Given the description of an element on the screen output the (x, y) to click on. 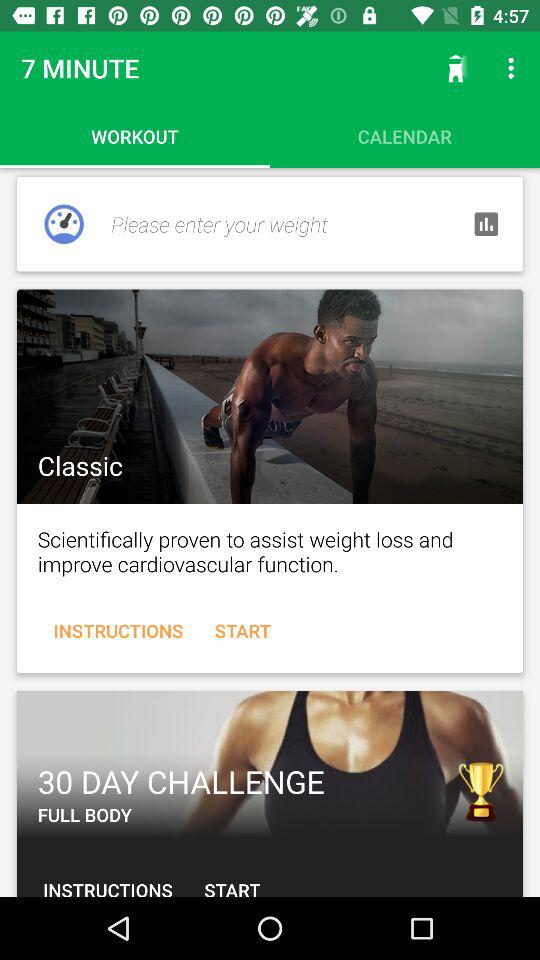
view workout (269, 763)
